Given the description of an element on the screen output the (x, y) to click on. 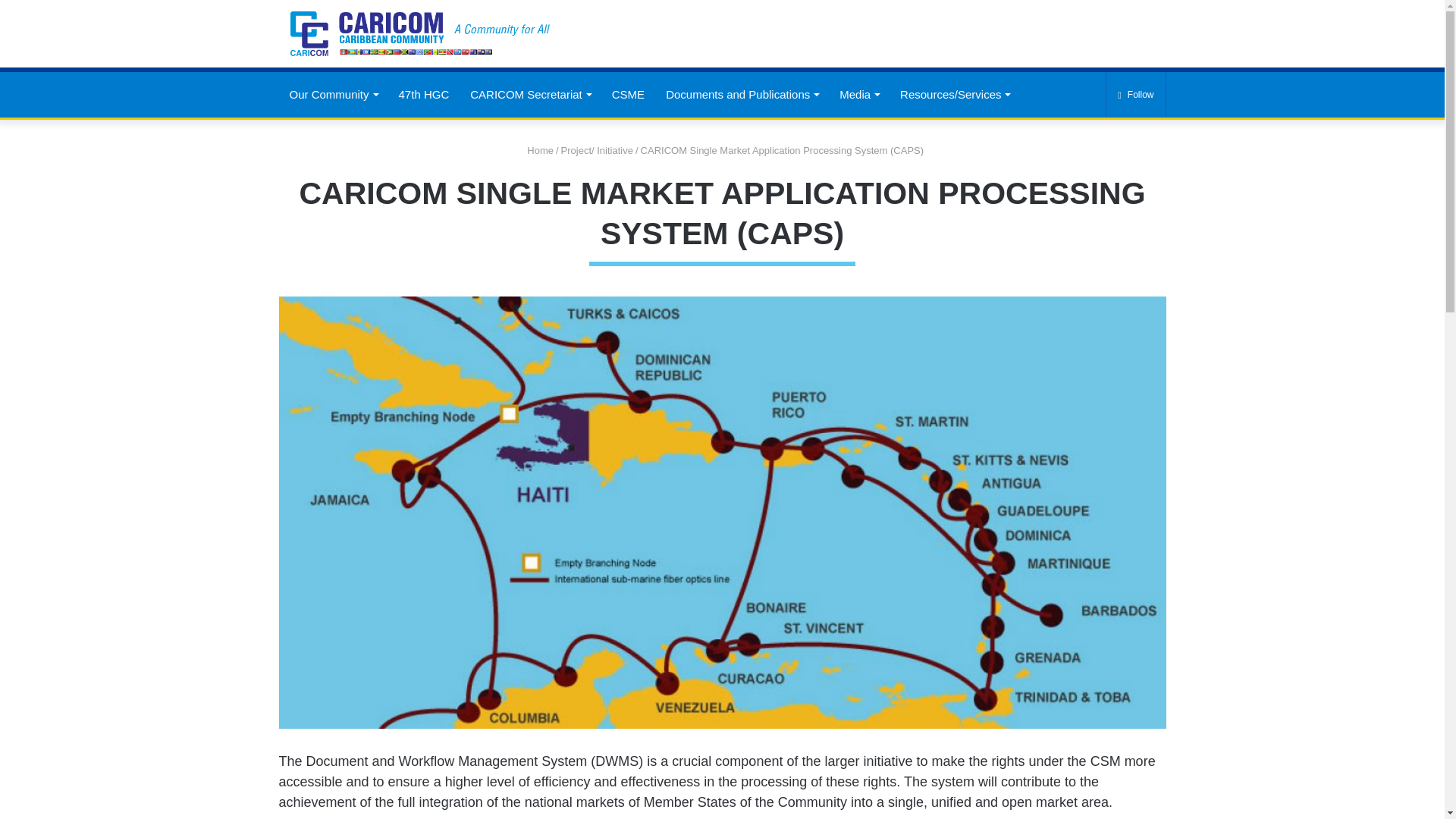
CARICOM Secretariat (530, 94)
47th HGC (424, 94)
Our Community (333, 94)
CSME (628, 94)
CARICOM (419, 33)
Media (858, 94)
Documents and Publications (741, 94)
